Given the description of an element on the screen output the (x, y) to click on. 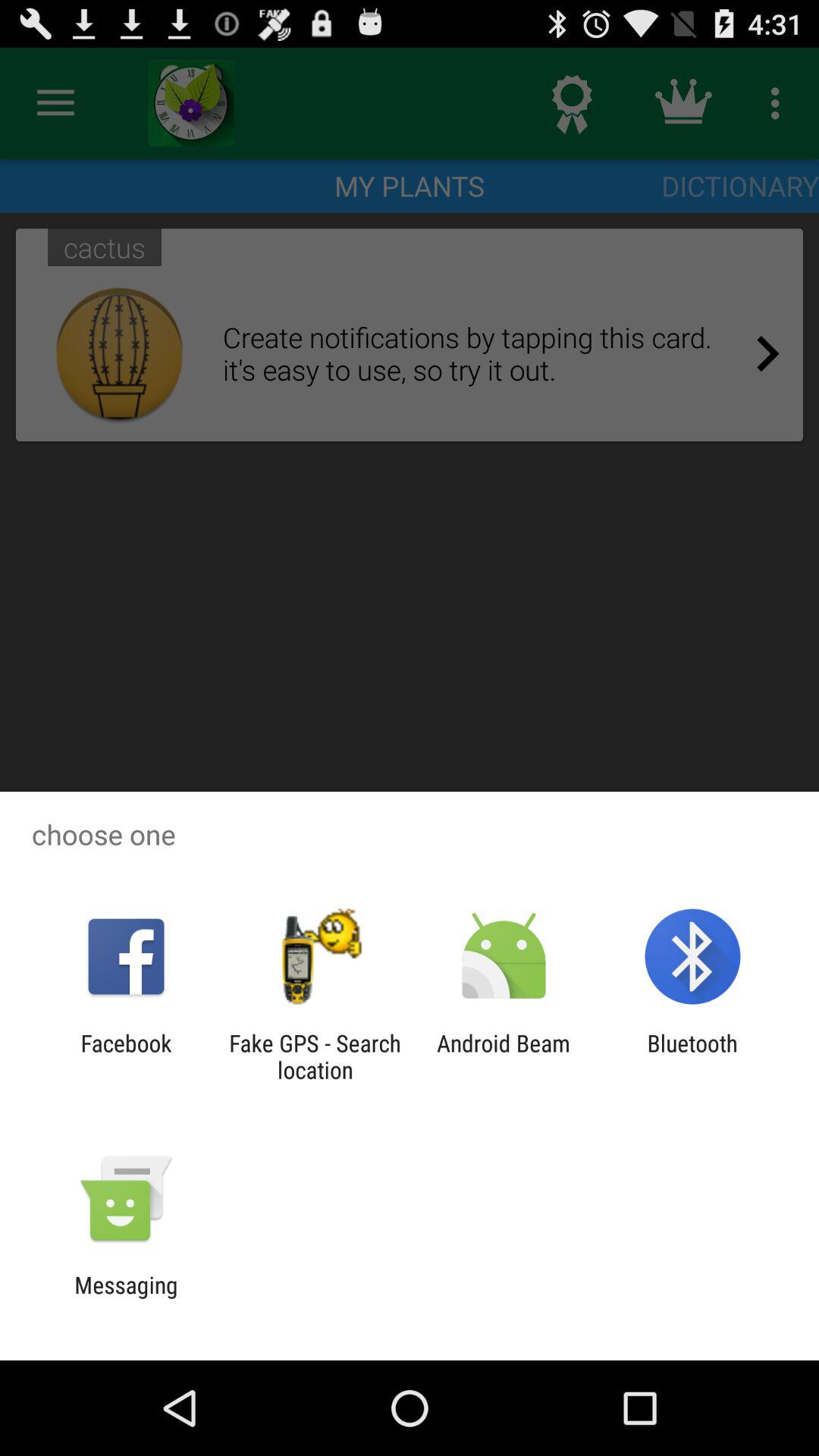
launch the item to the left of the bluetooth app (503, 1056)
